Given the description of an element on the screen output the (x, y) to click on. 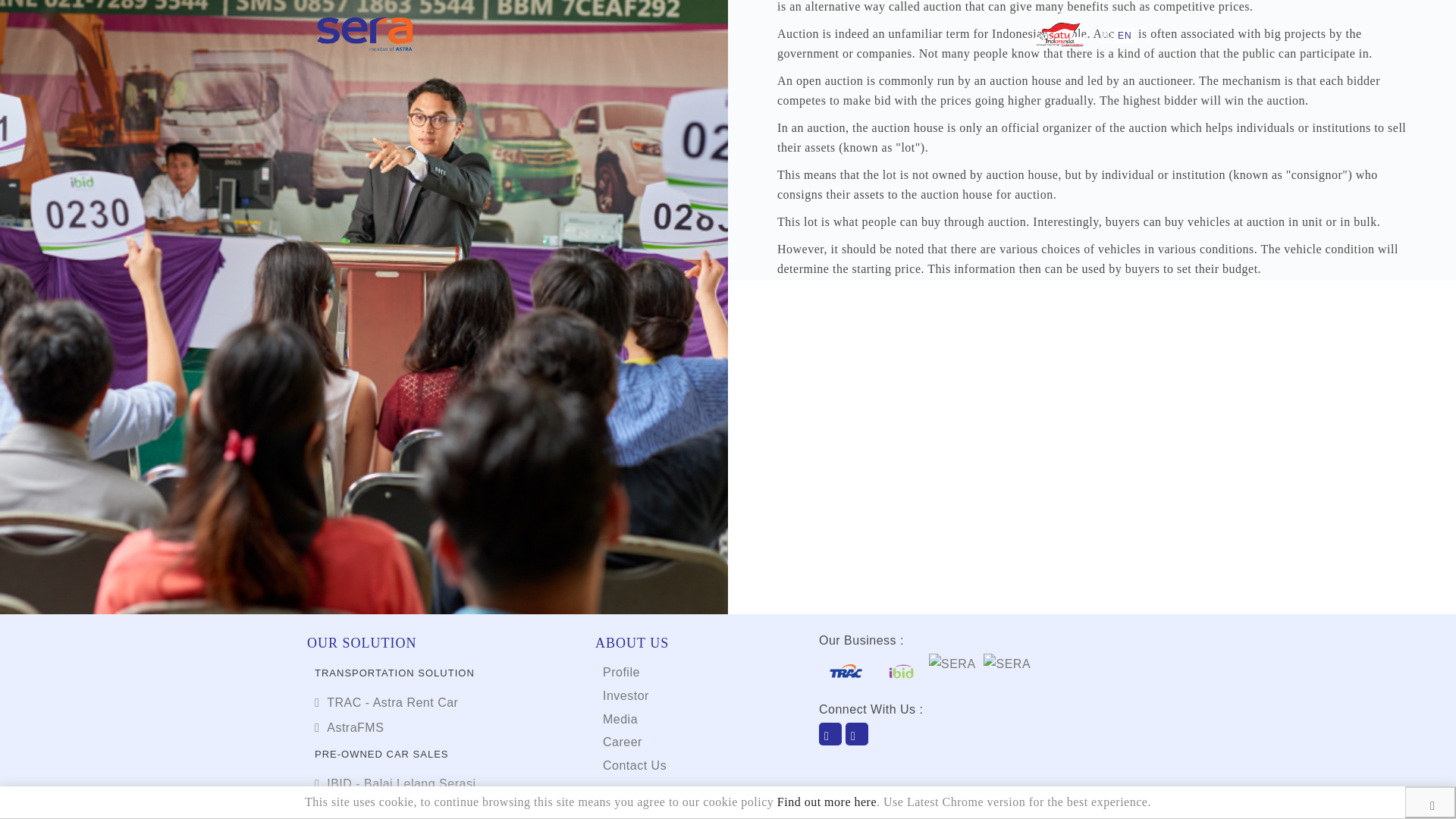
Contact Us (634, 765)
SERA (826, 758)
Investor (625, 695)
IBID (791, 758)
Profile (621, 671)
Career (622, 741)
  IBID - Balai Lelang Serasi (395, 783)
  TRAC - Astra Rent Car (386, 702)
Media (619, 718)
  AstraFMS (349, 727)
